Given the description of an element on the screen output the (x, y) to click on. 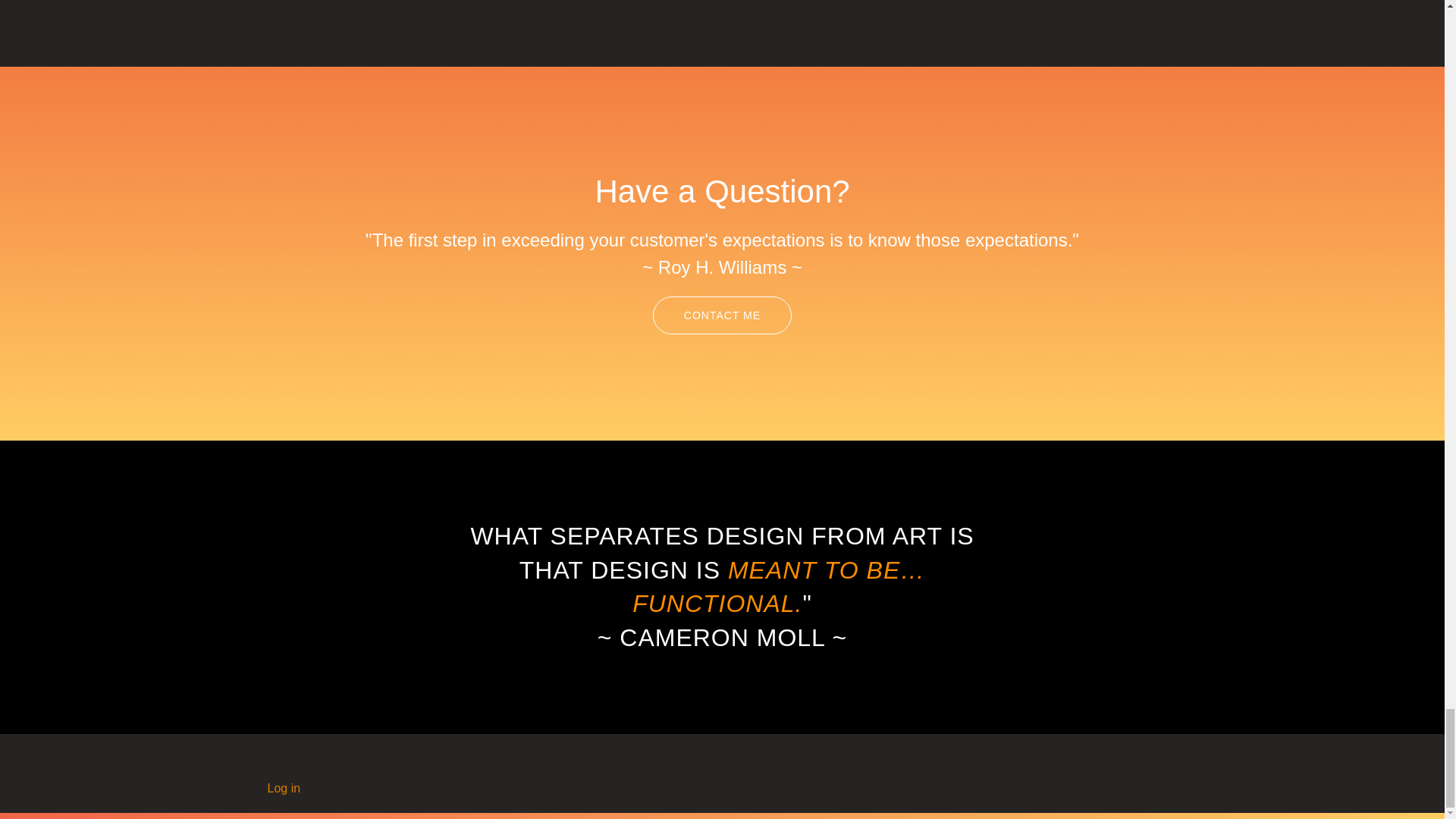
Have a Question? (721, 191)
CONTACT ME (722, 315)
Log in (282, 788)
